Given the description of an element on the screen output the (x, y) to click on. 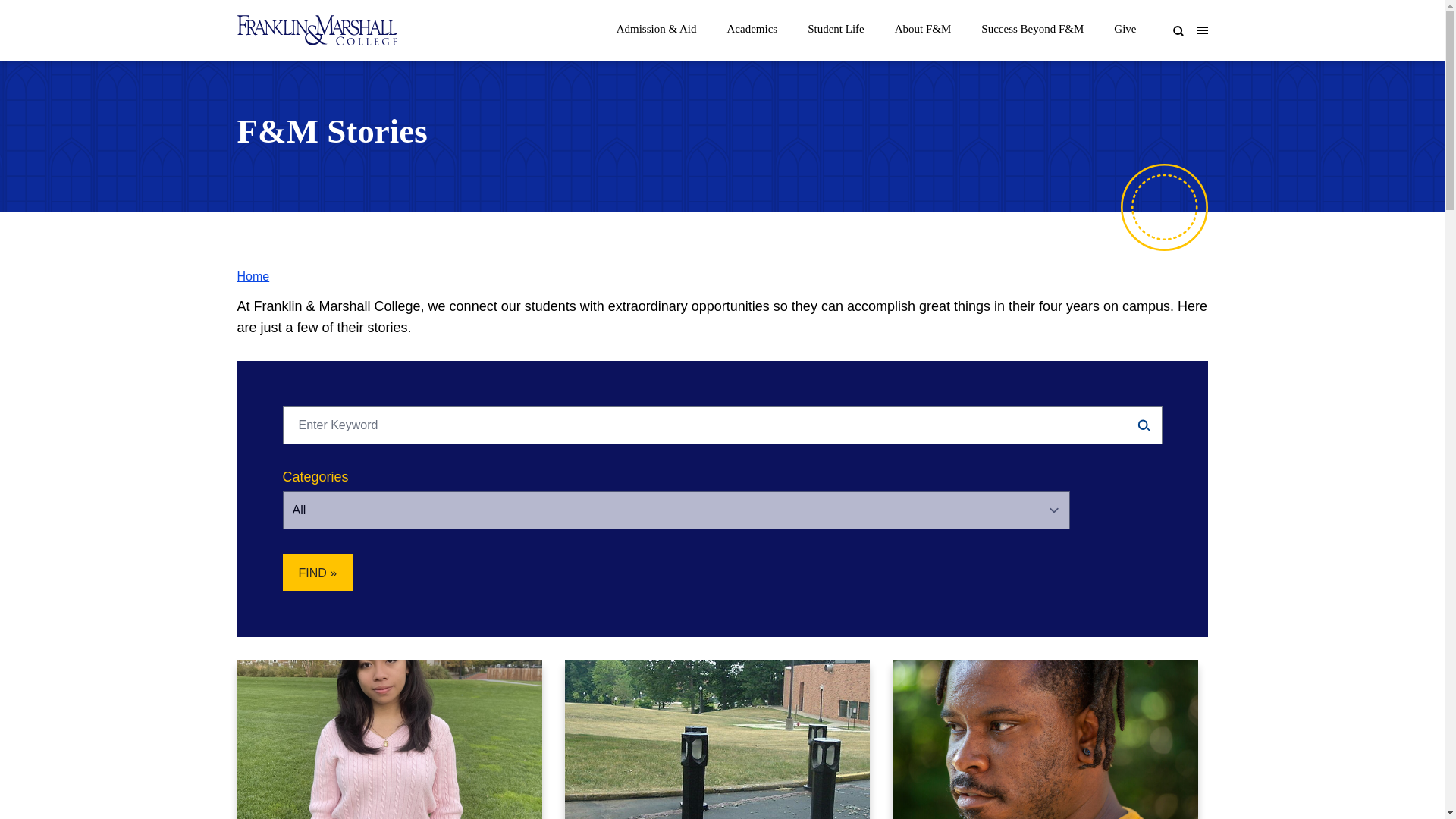
Student Life (836, 24)
Academics (751, 24)
